Given the description of an element on the screen output the (x, y) to click on. 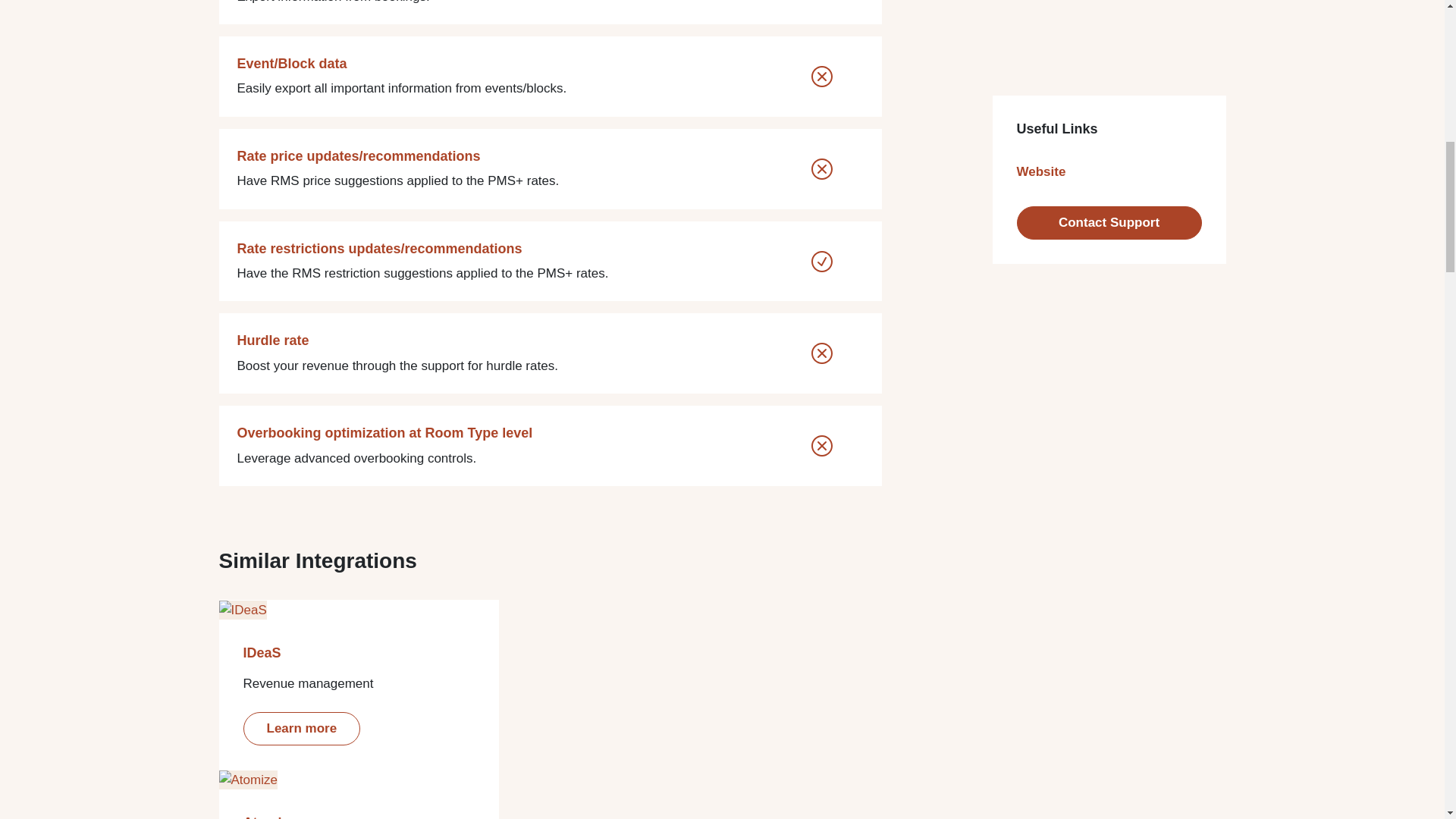
Learn more (301, 728)
